Given the description of an element on the screen output the (x, y) to click on. 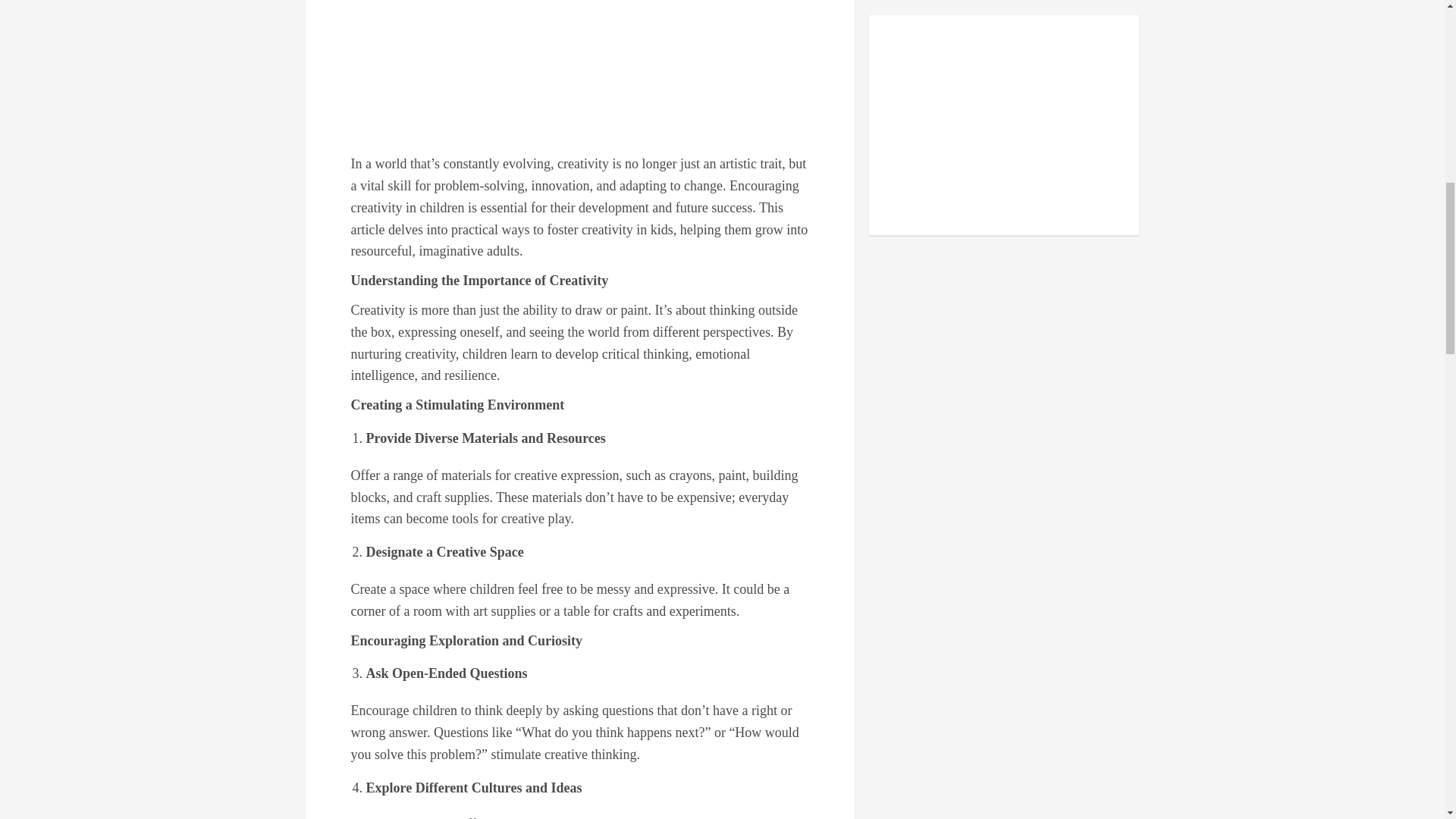
Advertisement (579, 76)
